Given the description of an element on the screen output the (x, y) to click on. 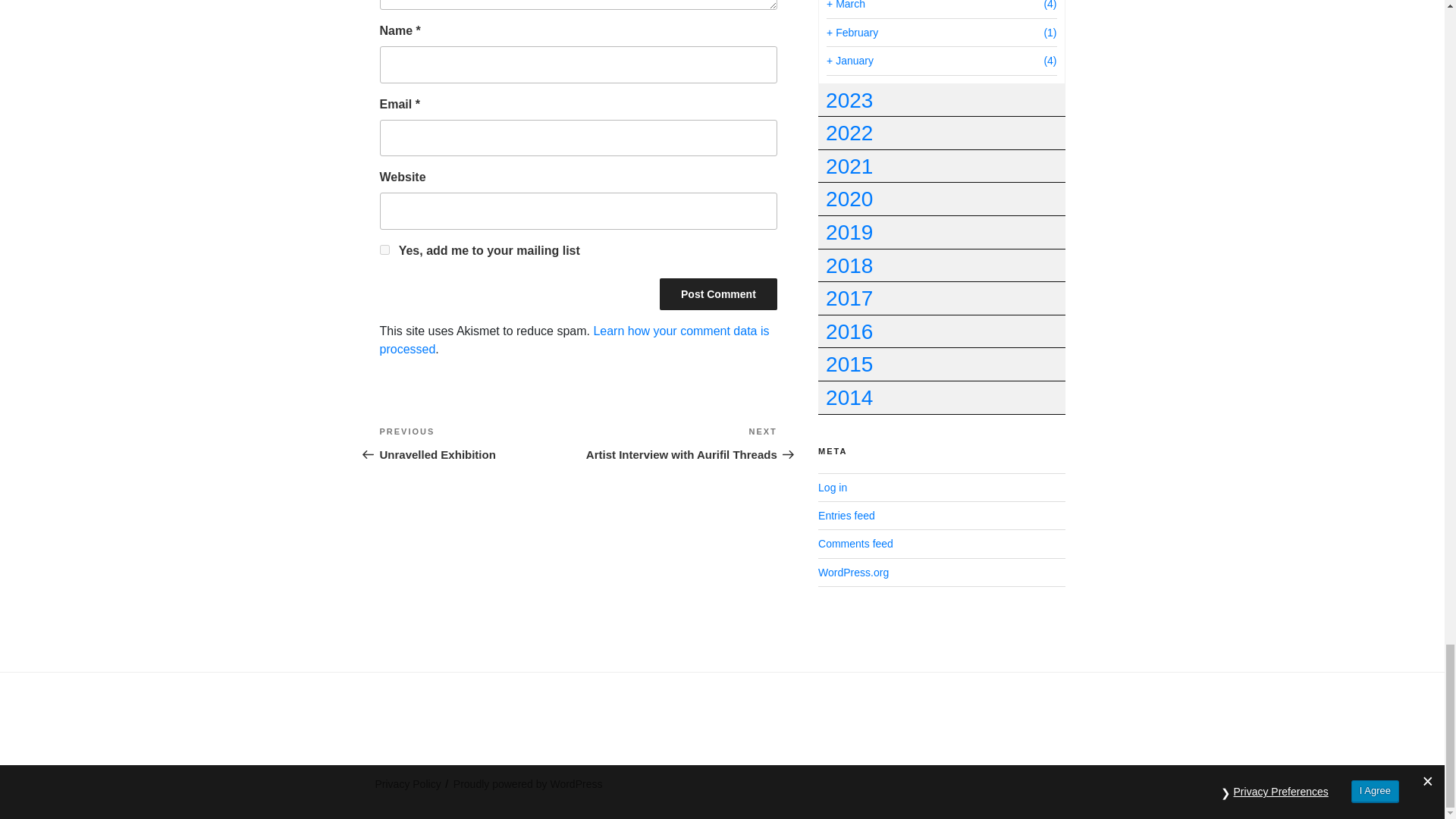
Post Comment (718, 294)
1 (677, 443)
Post Comment (478, 443)
Learn how your comment data is processed (383, 249)
